Given the description of an element on the screen output the (x, y) to click on. 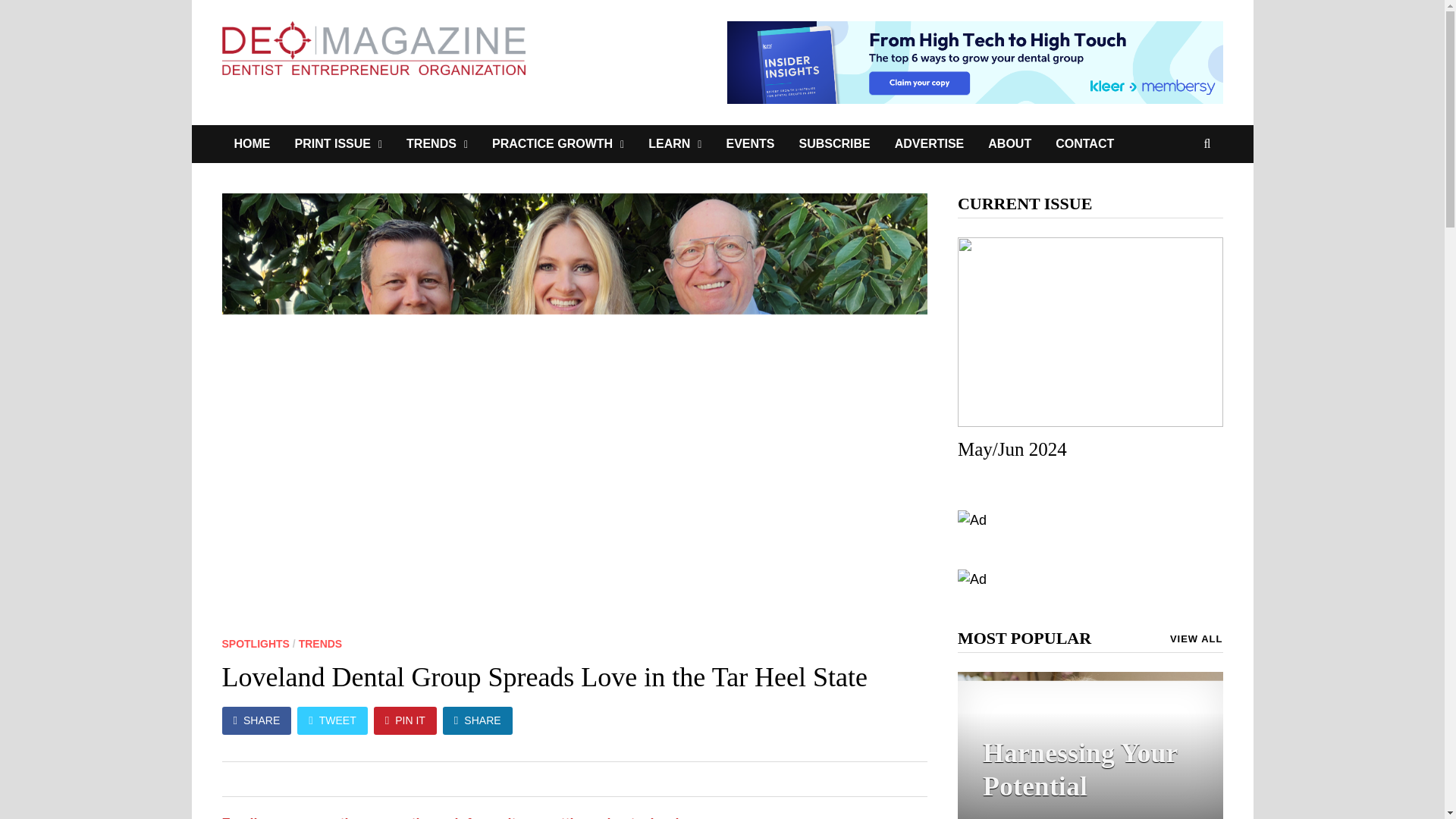
EVENTS (749, 143)
ADVERTISE (929, 143)
HOME (251, 143)
CONTACT (1084, 143)
LEARN (674, 143)
Be the first one to tweet this article! (386, 781)
TRENDS (437, 143)
PRACTICE GROWTH (558, 143)
ABOUT (1009, 143)
SUBSCRIBE (834, 143)
